Given the description of an element on the screen output the (x, y) to click on. 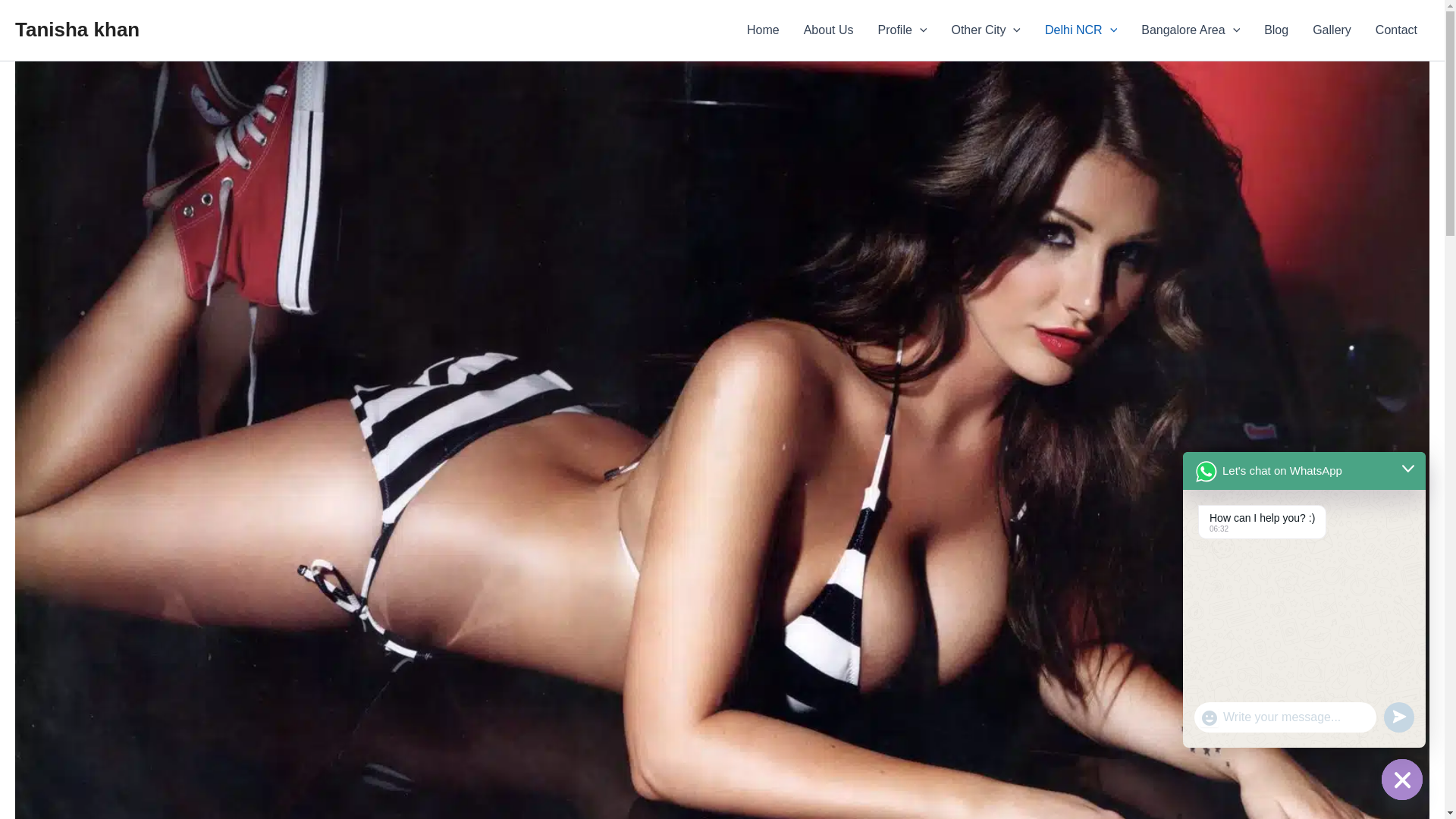
Home (763, 30)
About Us (829, 30)
Other City (985, 30)
Tanisha khan (76, 29)
Profile (902, 30)
